Given the description of an element on the screen output the (x, y) to click on. 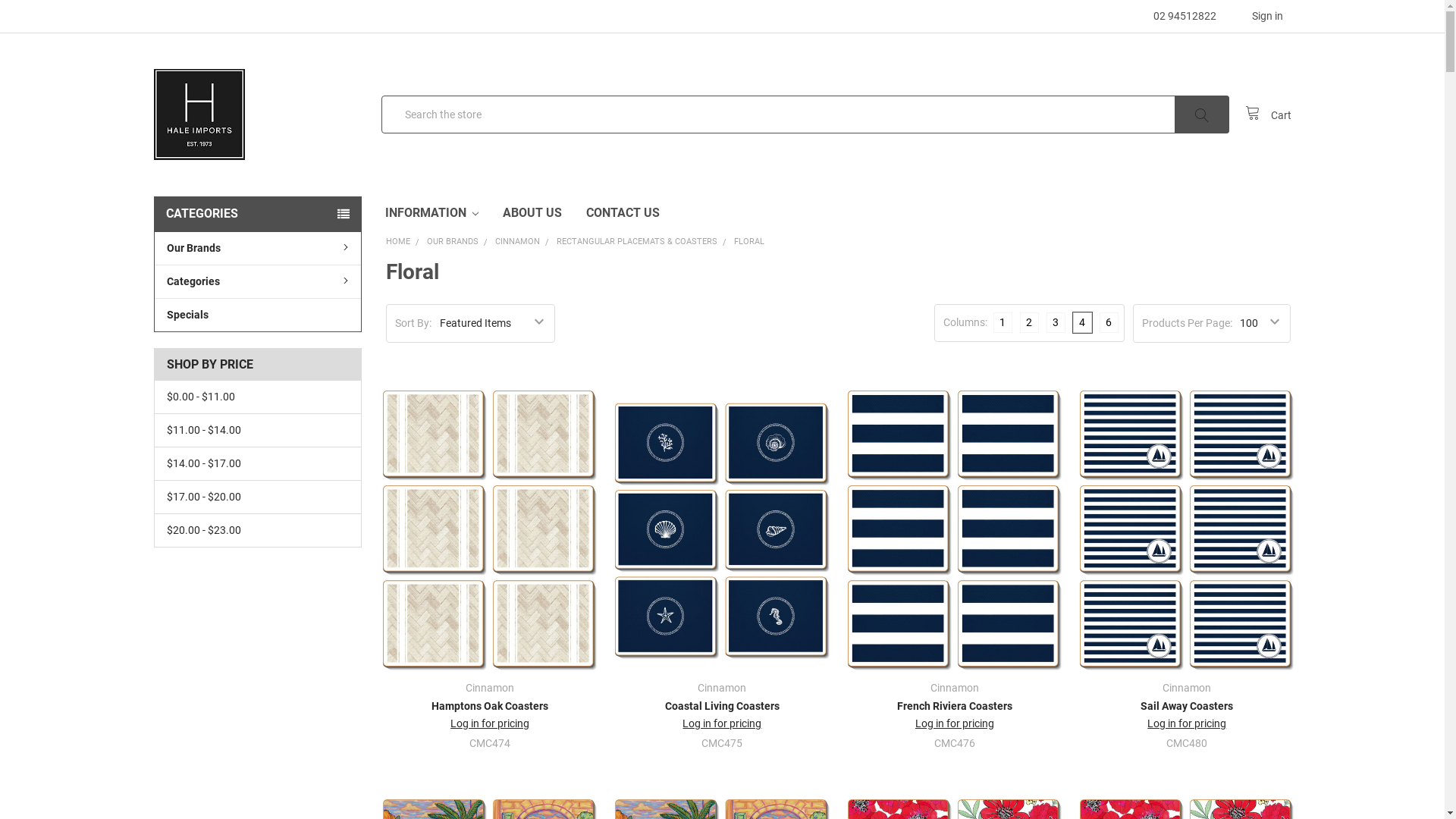
Sail Away Coasters Element type: text (1186, 705)
Log in for pricing Element type: text (721, 723)
French Riviera Coasters Element type: hover (954, 530)
INFORMATION Element type: text (432, 212)
$20.00 - $23.00 Element type: text (257, 530)
OUR BRANDS Element type: text (452, 241)
Coastal Living Coasters Element type: hover (721, 529)
Sign in Element type: text (1257, 16)
FLORAL Element type: text (749, 241)
Hamptons Oak Coasters Element type: hover (489, 530)
RECTANGULAR PLACEMATS & COASTERS Element type: text (636, 241)
$17.00 - $20.00 Element type: text (257, 497)
Log in for pricing Element type: text (1186, 723)
CONTACT US Element type: text (622, 212)
CATEGORIES Element type: text (256, 213)
Hamptons Oak Coasters Element type: text (489, 705)
ABOUT US Element type: text (532, 212)
Log in for pricing Element type: text (489, 723)
$0.00 - $11.00 Element type: text (257, 396)
Cart Element type: text (1268, 113)
02 94512822 Element type: text (1175, 16)
French Riviera Coasters Element type: text (954, 705)
Our Brands Element type: text (257, 248)
Specials Element type: text (257, 314)
Coastal Living Coasters Element type: text (722, 705)
Hale Imports Pty Ltd Element type: hover (198, 114)
Search Element type: text (1206, 114)
Log in for pricing Element type: text (954, 723)
$14.00 - $17.00 Element type: text (257, 463)
Sail Away Coasters Element type: hover (1186, 530)
CINNAMON Element type: text (517, 241)
$11.00 - $14.00 Element type: text (257, 430)
Categories Element type: text (257, 281)
HOME Element type: text (397, 241)
